Given the description of an element on the screen output the (x, y) to click on. 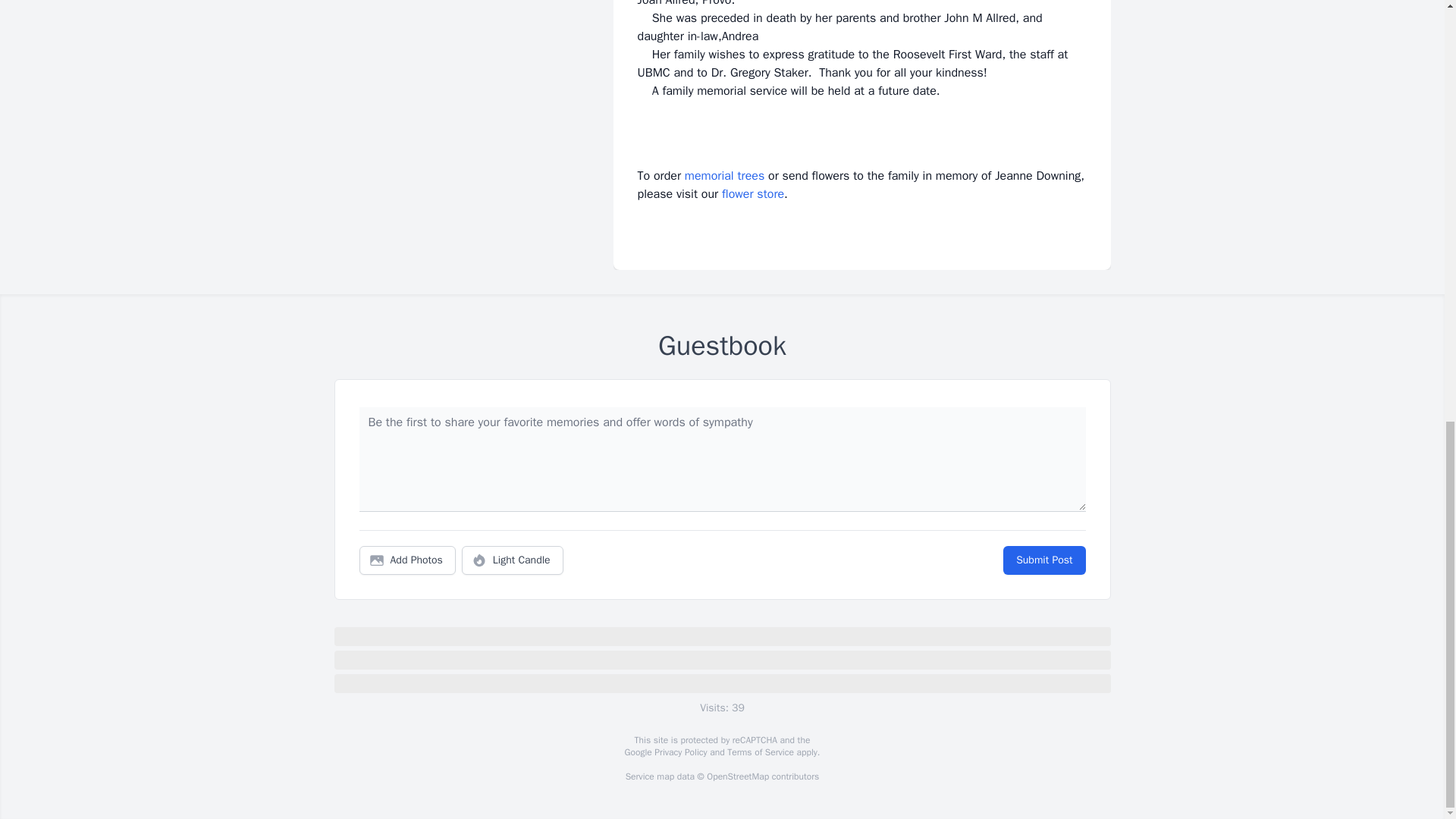
Terms of Service (759, 752)
Add Photos (407, 560)
memorial trees (724, 175)
Submit Post (1043, 560)
Privacy Policy (679, 752)
flower store (753, 193)
Light Candle (512, 560)
OpenStreetMap (737, 776)
